Given the description of an element on the screen output the (x, y) to click on. 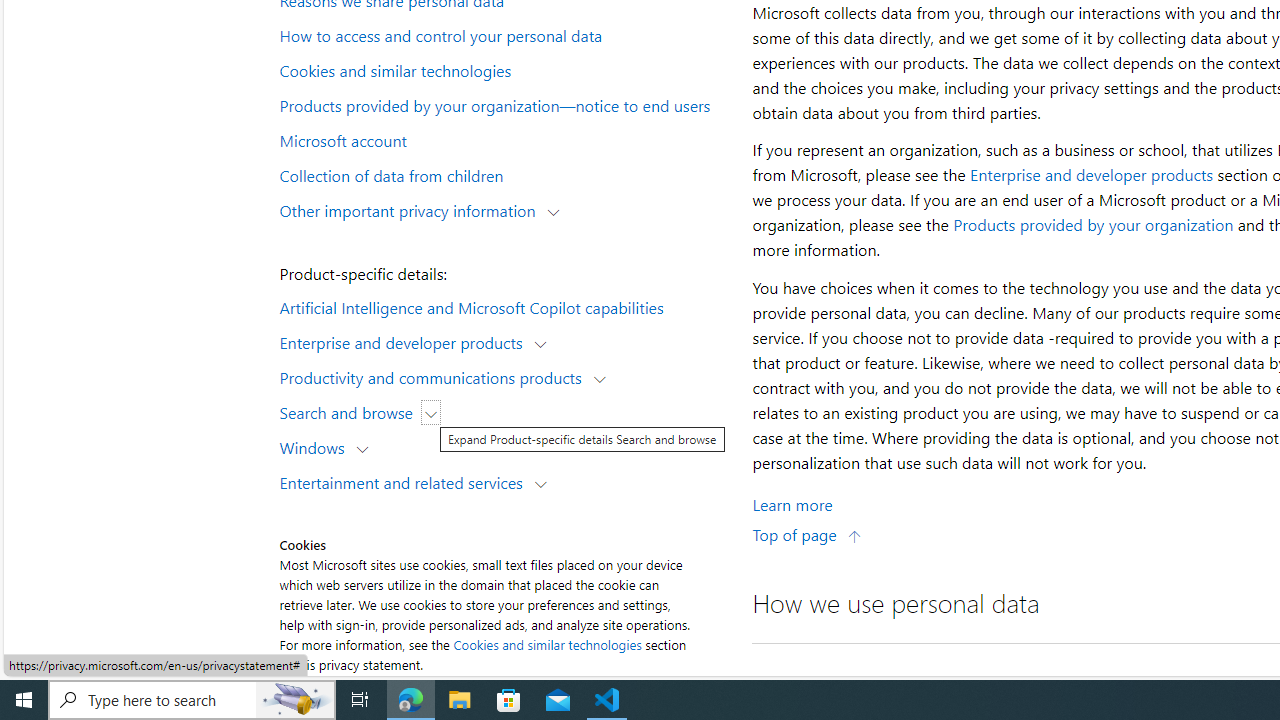
Microsoft account (504, 139)
Cookies and similar technologies (504, 69)
Enterprise and developer products (405, 341)
Artificial Intelligence and Microsoft Copilot capabilities (504, 306)
Entertainment and related services (405, 481)
Top of page (807, 534)
Other important privacy information (412, 209)
Productivity and communications products (435, 376)
How to access and control your personal data (504, 35)
Cookies and similar technologies (547, 644)
Collection of data from children (504, 174)
Products provided by your organization (1093, 224)
Search and browse (350, 412)
